Given the description of an element on the screen output the (x, y) to click on. 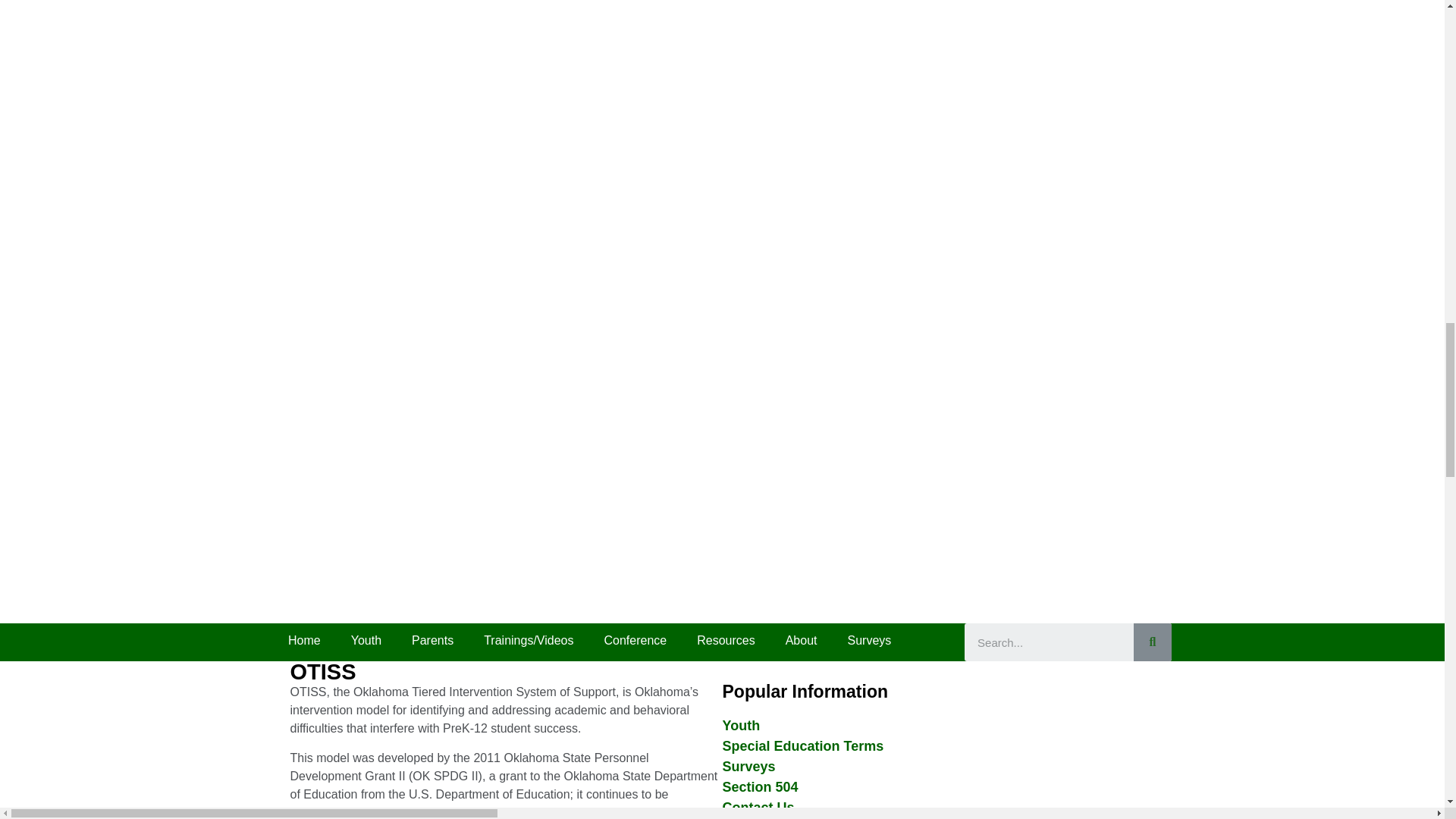
Home (304, 640)
Youth (366, 640)
Conference (634, 640)
Parents (432, 640)
